Given the description of an element on the screen output the (x, y) to click on. 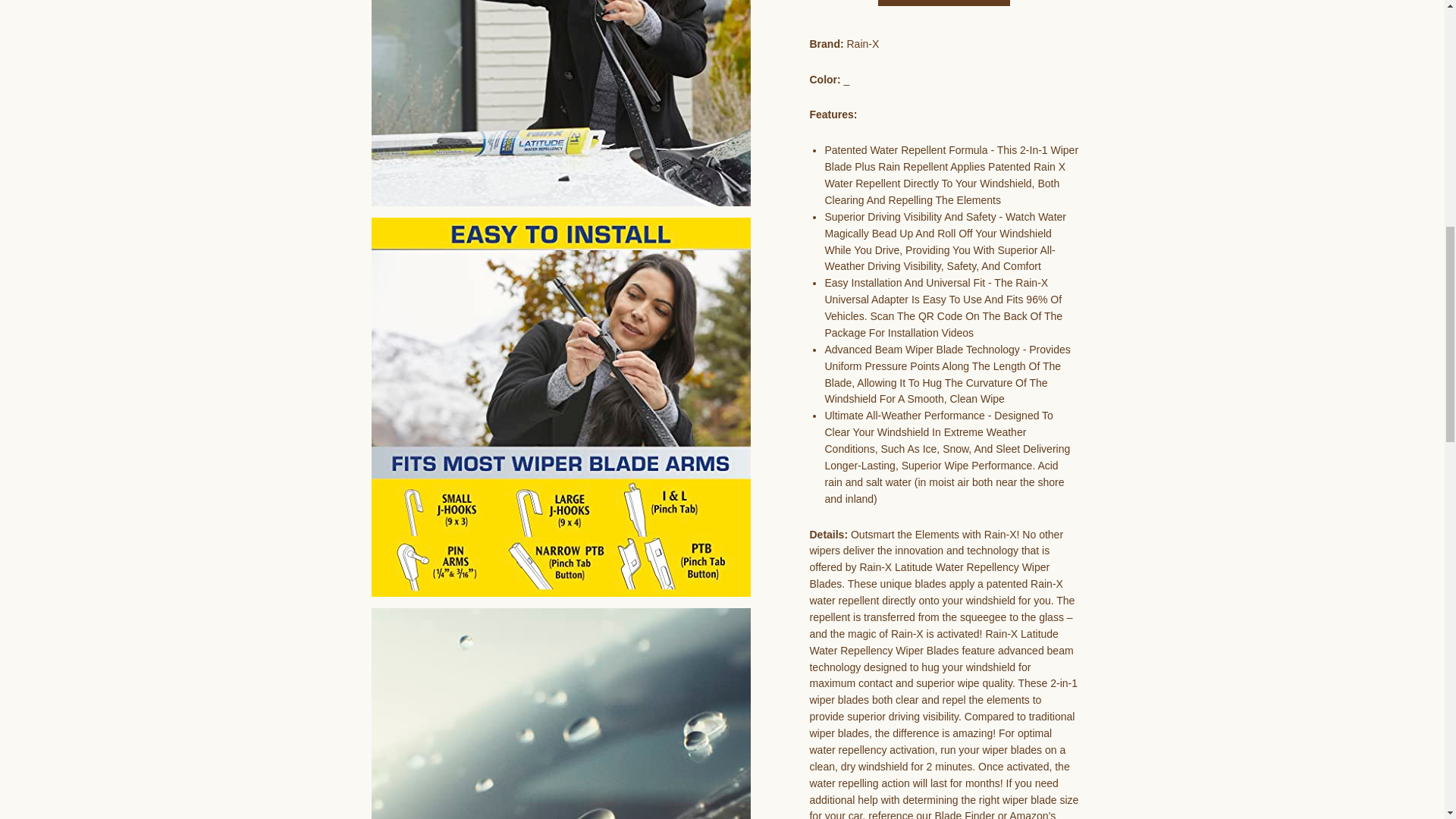
VIEW ON AMAZON (943, 2)
